Given the description of an element on the screen output the (x, y) to click on. 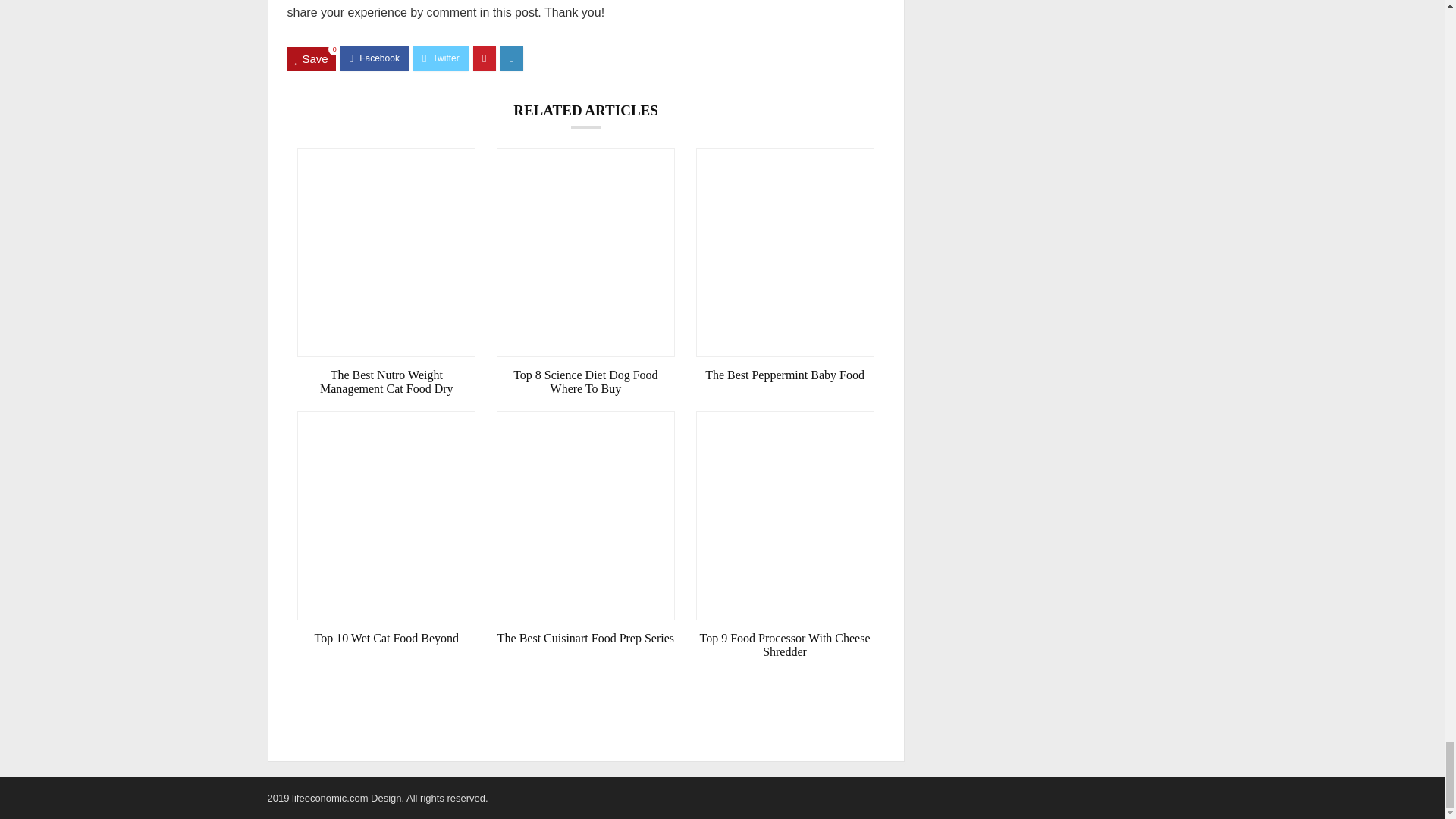
The Best Nutro Weight Management Cat Food Dry (386, 381)
Top 9 Food Processor With Cheese Shredder (785, 645)
Top 8 Science Diet Dog Food Where To Buy (585, 381)
Top 10 Wet Cat Food Beyond (386, 638)
The Best Peppermint Baby Food (785, 375)
The Best Cuisinart Food Prep Series (585, 638)
